Given the description of an element on the screen output the (x, y) to click on. 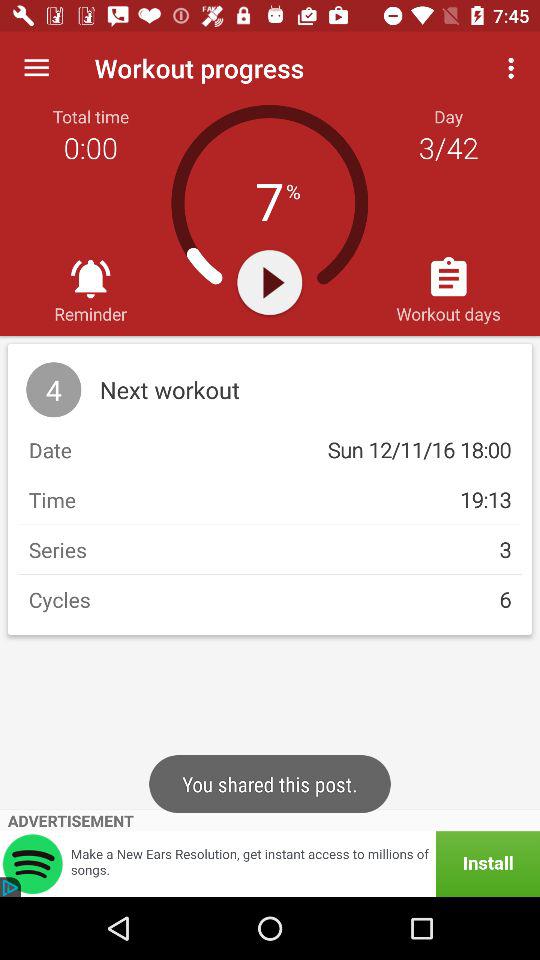
go to the advertisement (270, 864)
